Given the description of an element on the screen output the (x, y) to click on. 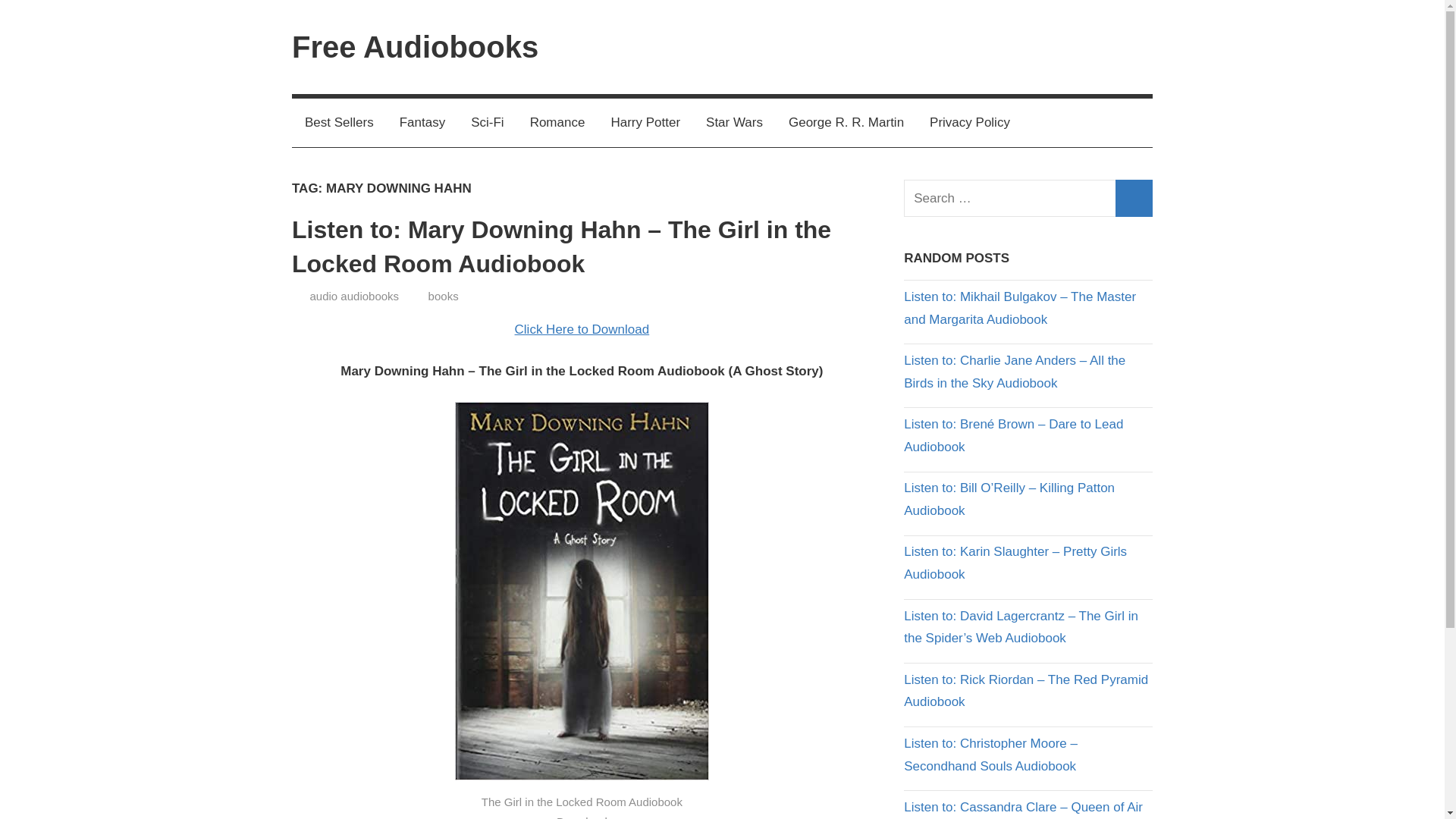
View all posts by audio audiobooks (353, 295)
Privacy Policy (970, 122)
audio audiobooks (353, 295)
Click Here to Download (582, 329)
books (443, 295)
Sci-Fi (487, 122)
Free Audiobooks (415, 46)
George R. R. Martin (846, 122)
Search for: (1028, 198)
Search (1134, 198)
Star Wars (734, 122)
Fantasy (422, 122)
Harry Potter (644, 122)
Romance (557, 122)
Best Sellers (339, 122)
